Given the description of an element on the screen output the (x, y) to click on. 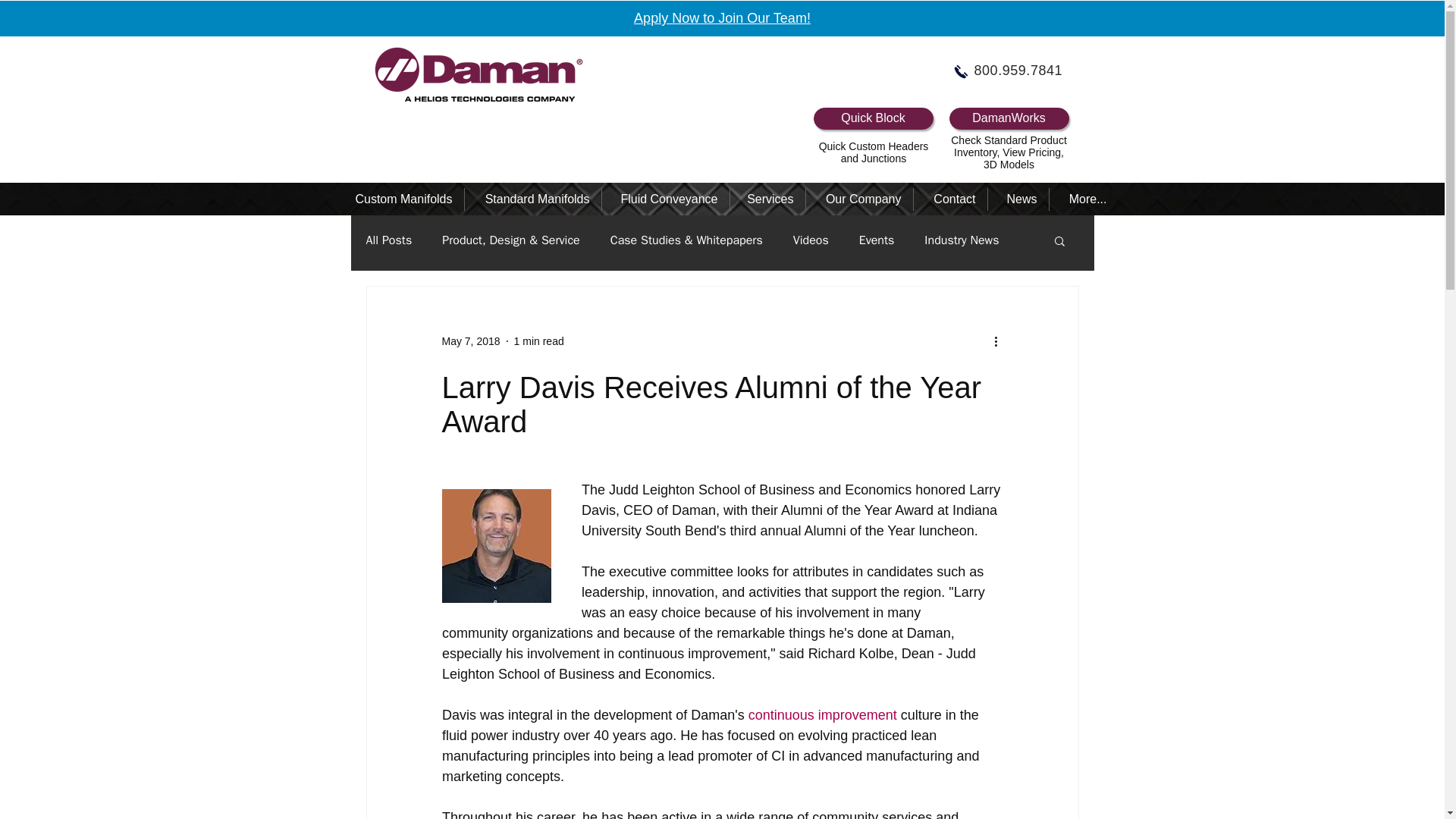
1 min read (538, 340)
Apply Now to Join Our Team! (721, 17)
Services (767, 199)
DamanWorks (1008, 118)
Fluid Conveyance (664, 199)
Quick Block (872, 118)
Embedded Content (555, 135)
May 7, 2018 (470, 340)
Standard Manifolds (532, 199)
Custom Manifolds (397, 199)
